Given the description of an element on the screen output the (x, y) to click on. 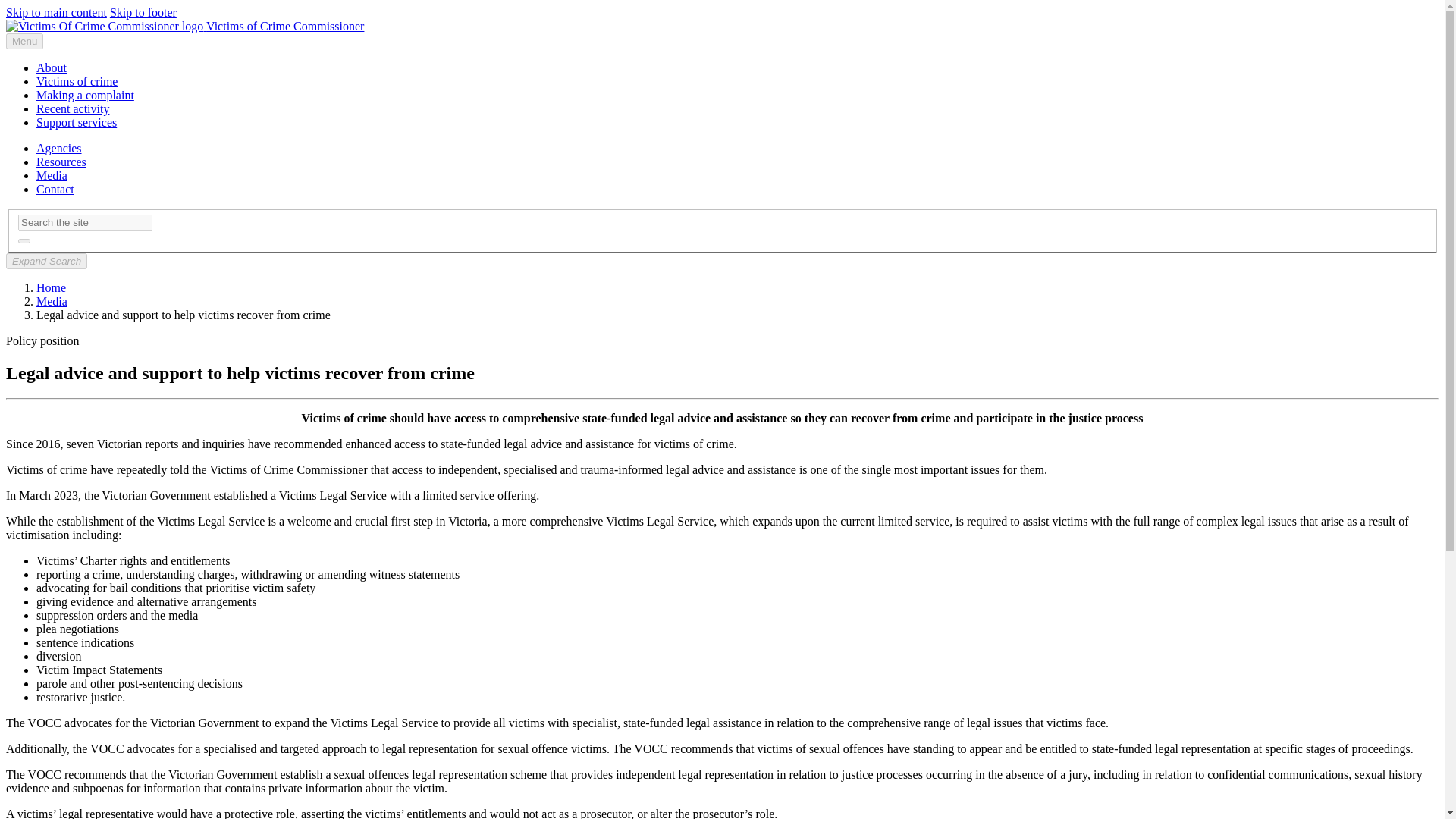
Expand Search (46, 261)
Media (51, 300)
Skip to main content (55, 11)
Victims of Crime Commissioner (184, 25)
Contact (55, 188)
Menu (24, 41)
Recent activity (72, 108)
Making a complaint (84, 94)
Victims of crime (76, 81)
Home (50, 287)
About (51, 67)
Agencies (58, 147)
Support services (76, 122)
Media (51, 174)
Skip to footer (143, 11)
